Given the description of an element on the screen output the (x, y) to click on. 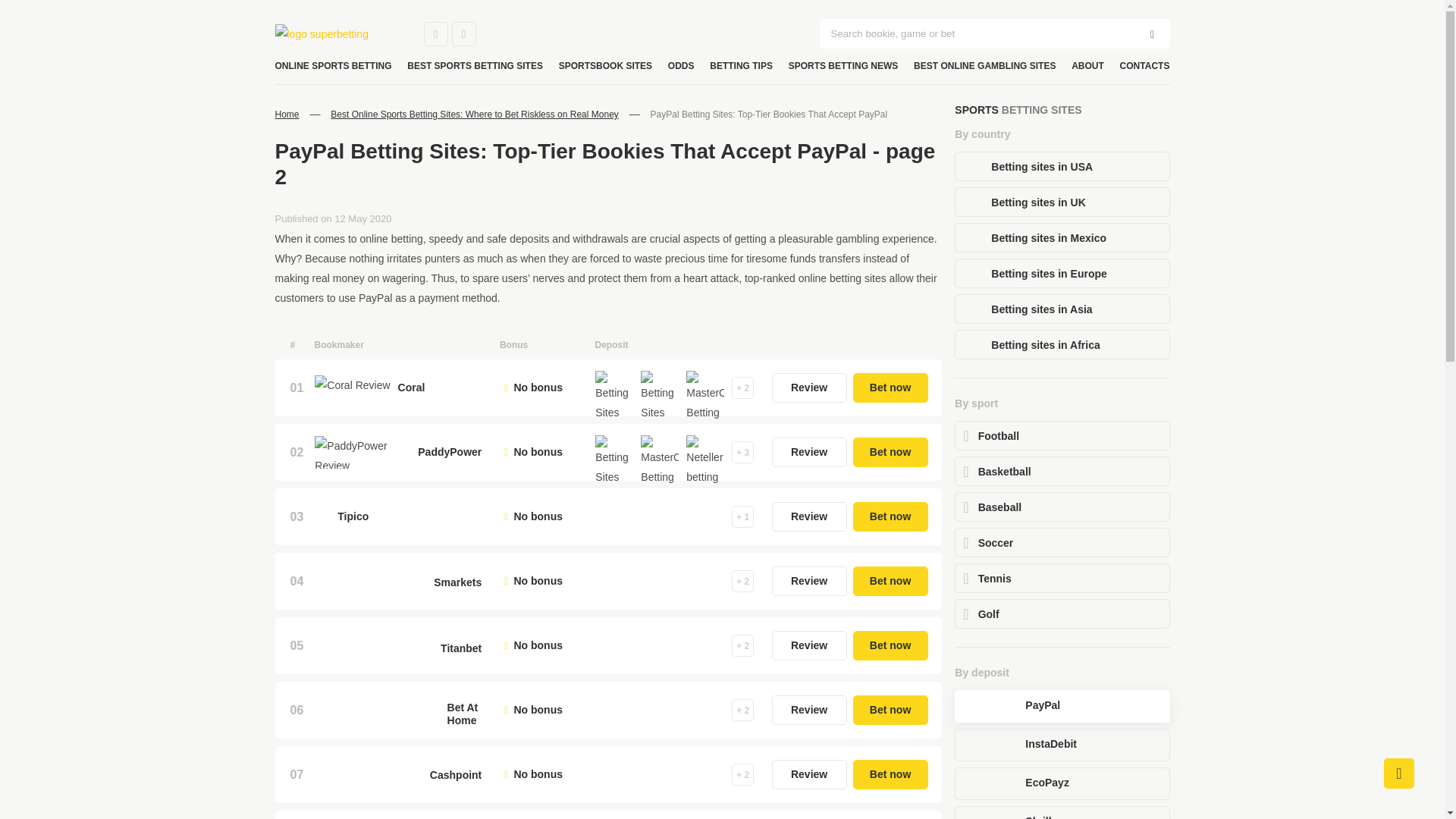
BEST SPORTS BETTING SITES (475, 66)
ONLINE SPORTS BETTING (333, 66)
Superbetting (337, 34)
